Given the description of an element on the screen output the (x, y) to click on. 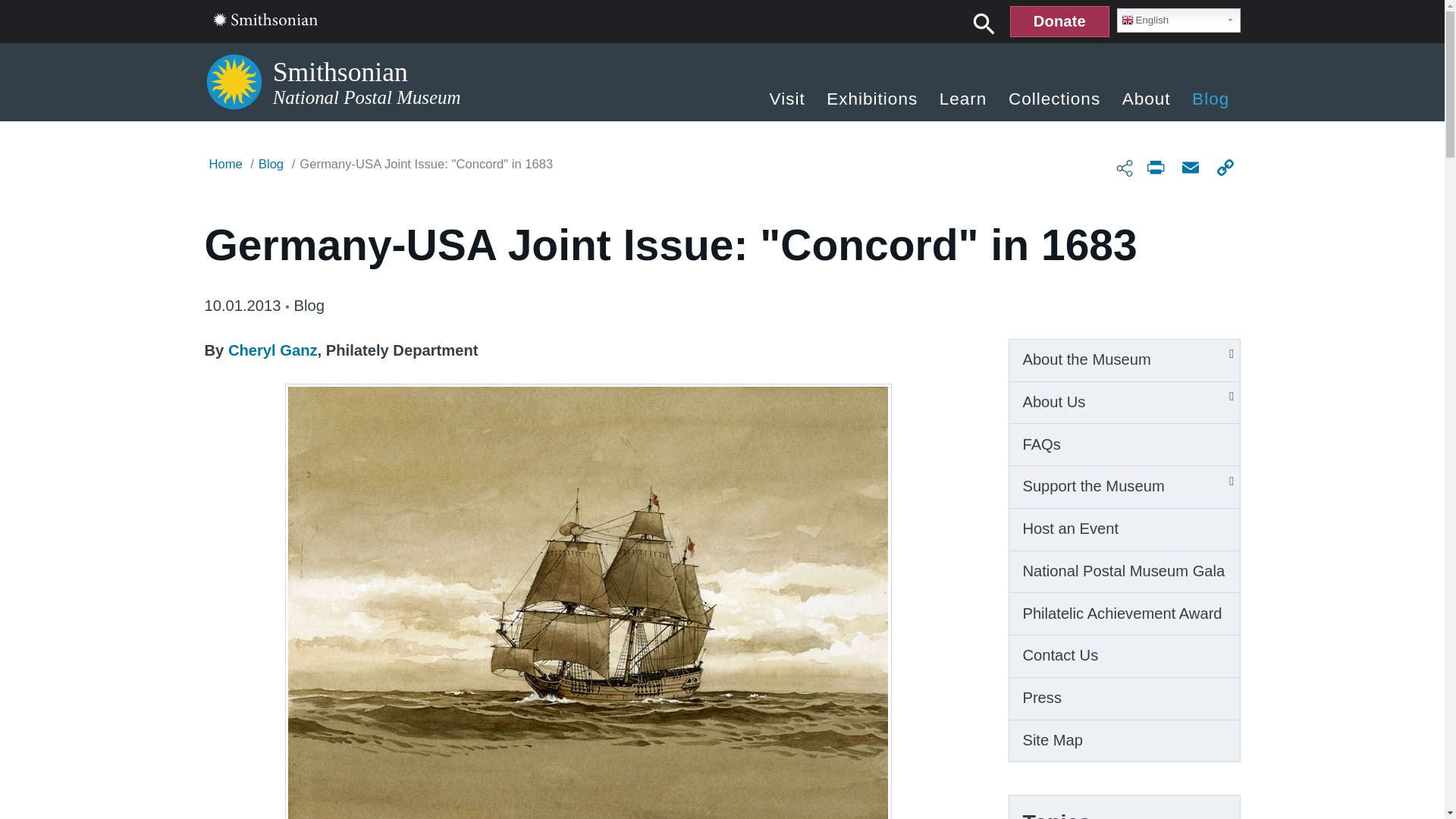
English (1178, 20)
Donate (1059, 21)
Search (984, 23)
